Given the description of an element on the screen output the (x, y) to click on. 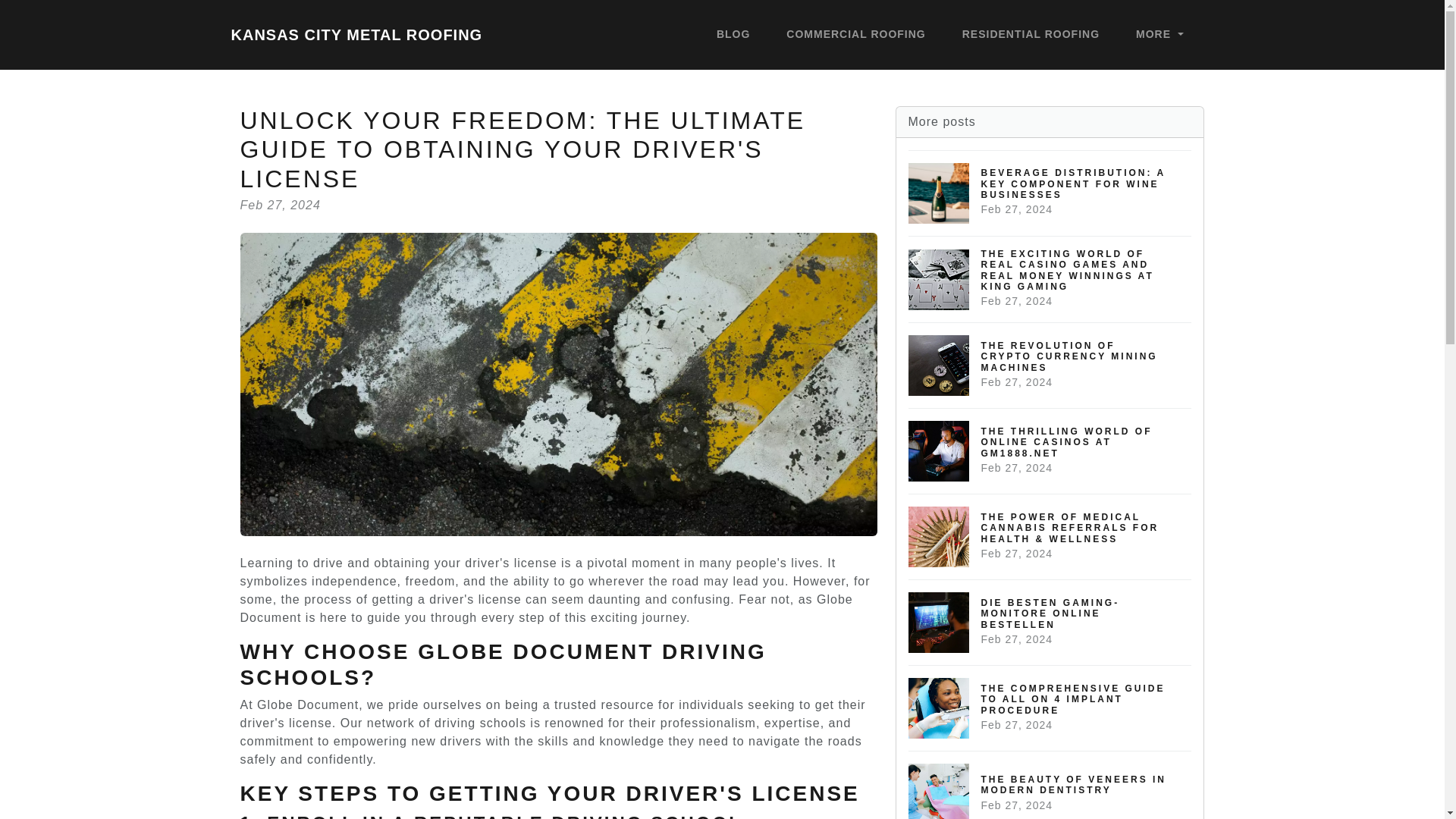
COMMERCIAL ROOFING (855, 34)
KANSAS CITY METAL ROOFING (355, 34)
RESIDENTIAL ROOFING (1050, 622)
BLOG (1050, 785)
MORE (1030, 34)
